Given the description of an element on the screen output the (x, y) to click on. 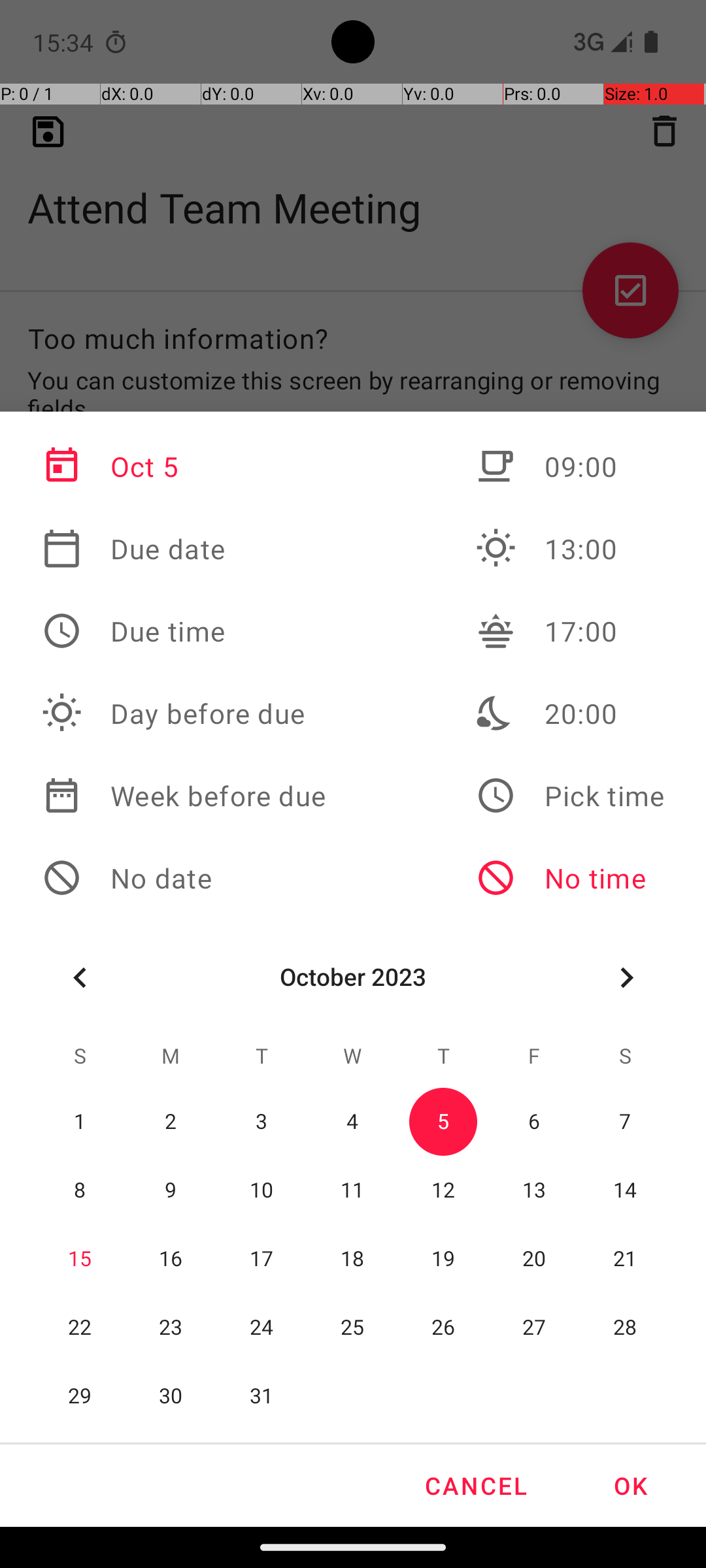
Oct 5 Element type: android.widget.CompoundButton (183, 466)
